Given the description of an element on the screen output the (x, y) to click on. 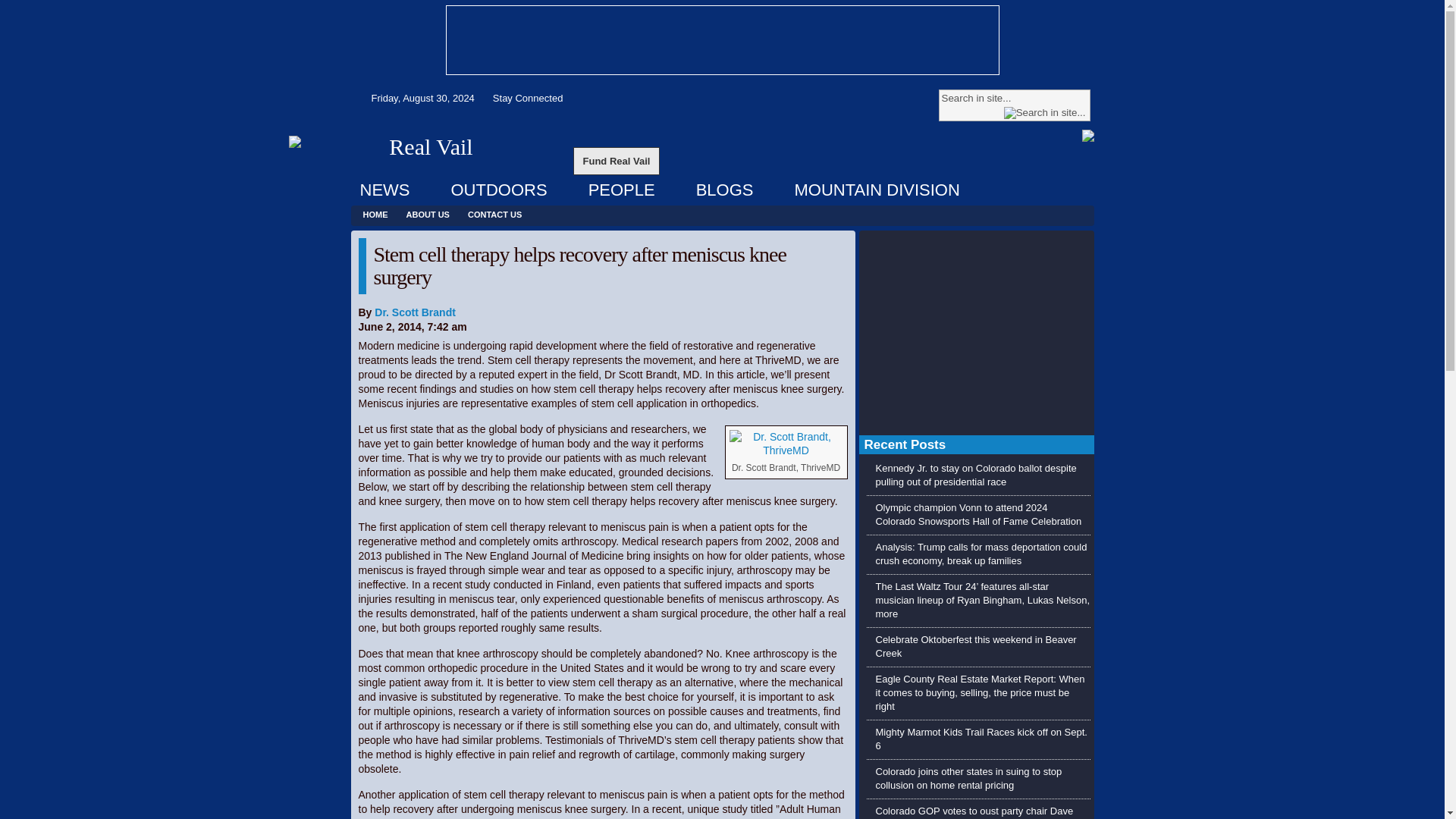
BLOGS (724, 190)
PEOPLE (621, 190)
NEWS (384, 190)
Dr. Scott Brandt (414, 312)
Celebrate Oktoberfest this weekend in Beaver Creek (975, 646)
Posts by Dr. Scott Brandt (414, 312)
MOUNTAIN DIVISION (876, 190)
